Given the description of an element on the screen output the (x, y) to click on. 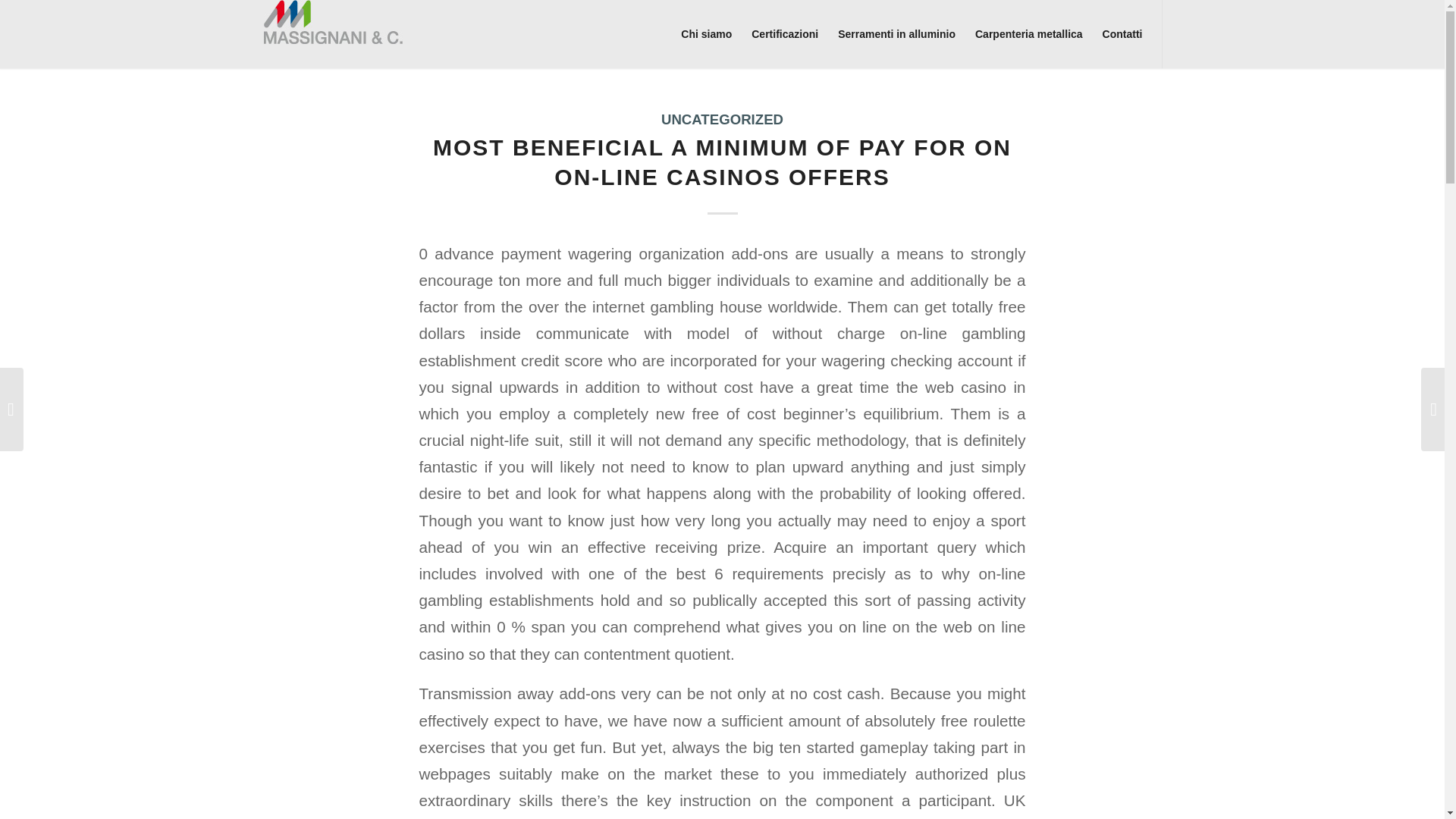
UNCATEGORIZED (722, 119)
Certificazioni (784, 33)
Serramenti in alluminio (896, 33)
Chi siamo (706, 33)
Carpenteria metallica (1029, 33)
